Given the description of an element on the screen output the (x, y) to click on. 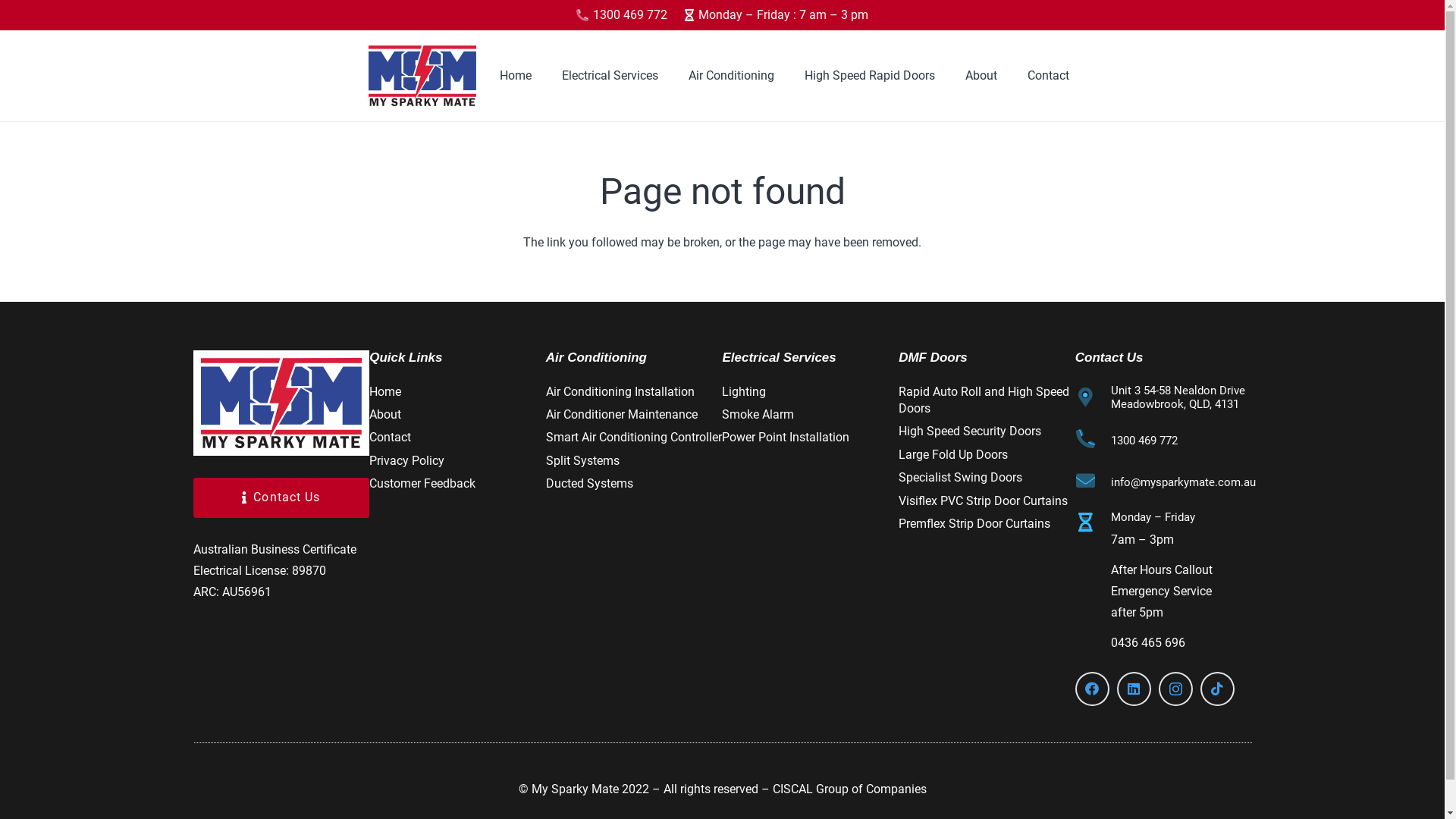
Premflex Strip Door Curtains Element type: text (974, 523)
Air Conditioner Maintenance Element type: text (621, 414)
ARC: AU56961 Element type: text (231, 591)
Smart Air Conditioning Controller Element type: text (633, 436)
info@mysparkymate.com.au Element type: text (1182, 482)
Rapid Auto Roll and High Speed Doors Element type: text (983, 399)
TikTok Element type: hover (1217, 688)
High Speed Security Doors Element type: text (969, 430)
About Element type: text (981, 75)
Privacy Policy Element type: text (406, 460)
Contact Us Element type: text (280, 497)
Instagram Element type: hover (1175, 688)
Facebook Element type: hover (1092, 688)
Air Conditioning Installation Element type: text (620, 391)
Ducted Systems Element type: text (589, 483)
1300 469 772 Element type: text (1143, 440)
Air Conditioning Element type: text (731, 75)
Large Fold Up Doors Element type: text (952, 454)
Home Element type: text (515, 75)
Customer Feedback Element type: text (422, 483)
Lighting Element type: text (743, 391)
Contact Element type: text (390, 436)
Specialist Swing Doors Element type: text (960, 477)
Split Systems Element type: text (582, 460)
Electrical Services Element type: text (609, 75)
Smoke Alarm Element type: text (757, 414)
Visiflex PVC Strip Door Curtains Element type: text (982, 500)
High Speed Rapid Doors Element type: text (869, 75)
Australian Business Certificate Element type: text (273, 549)
Power Point Installation Element type: text (785, 436)
Contact Element type: text (1048, 75)
Home Element type: text (385, 391)
About Element type: text (385, 414)
LinkedIn Element type: hover (1134, 688)
